Given the description of an element on the screen output the (x, y) to click on. 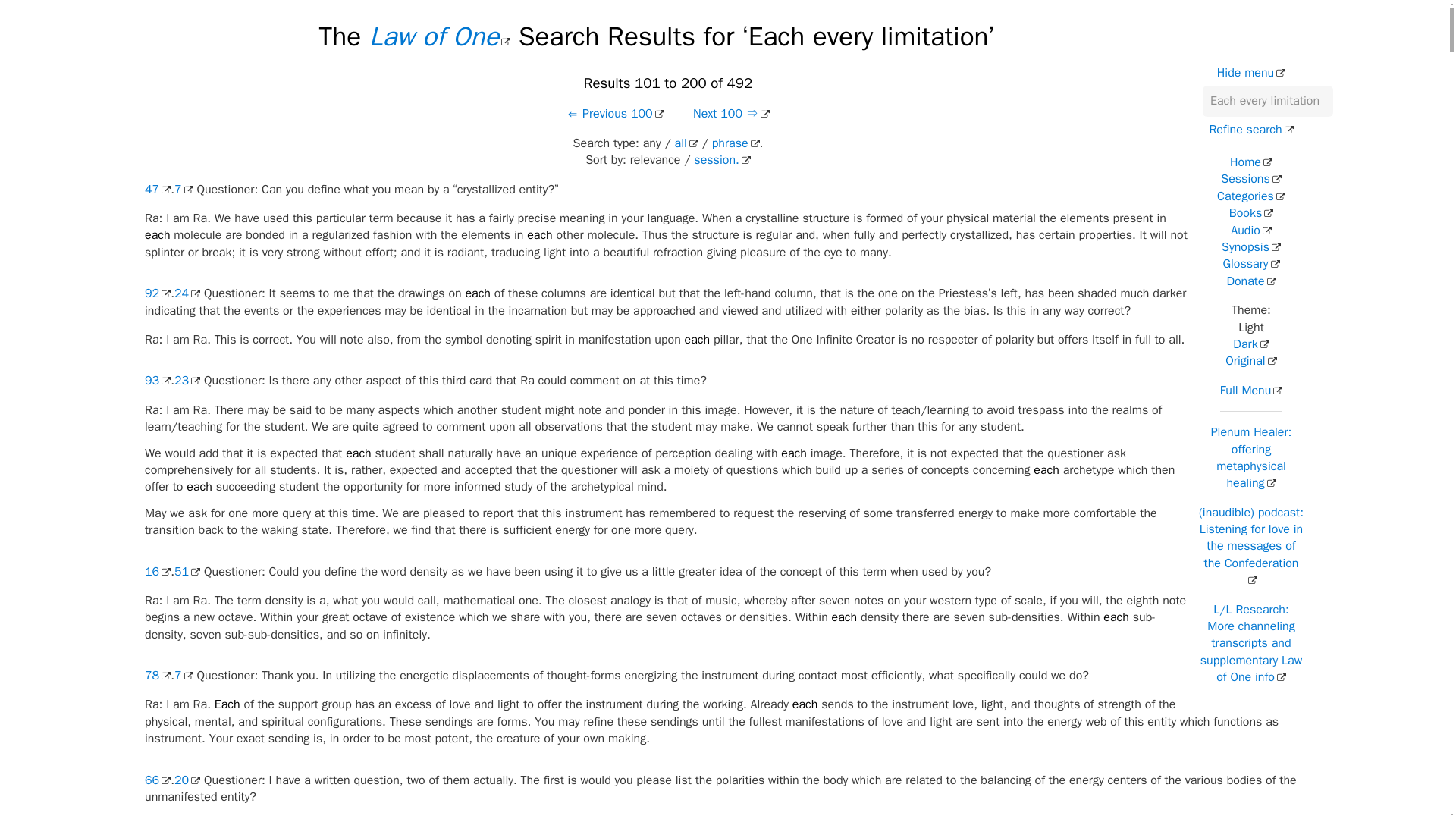
20 (187, 780)
93 (157, 380)
78 (157, 675)
92 (157, 293)
7 (183, 675)
23 (187, 380)
Law of One (440, 36)
session. (721, 159)
16 (157, 571)
7 (183, 189)
